Given the description of an element on the screen output the (x, y) to click on. 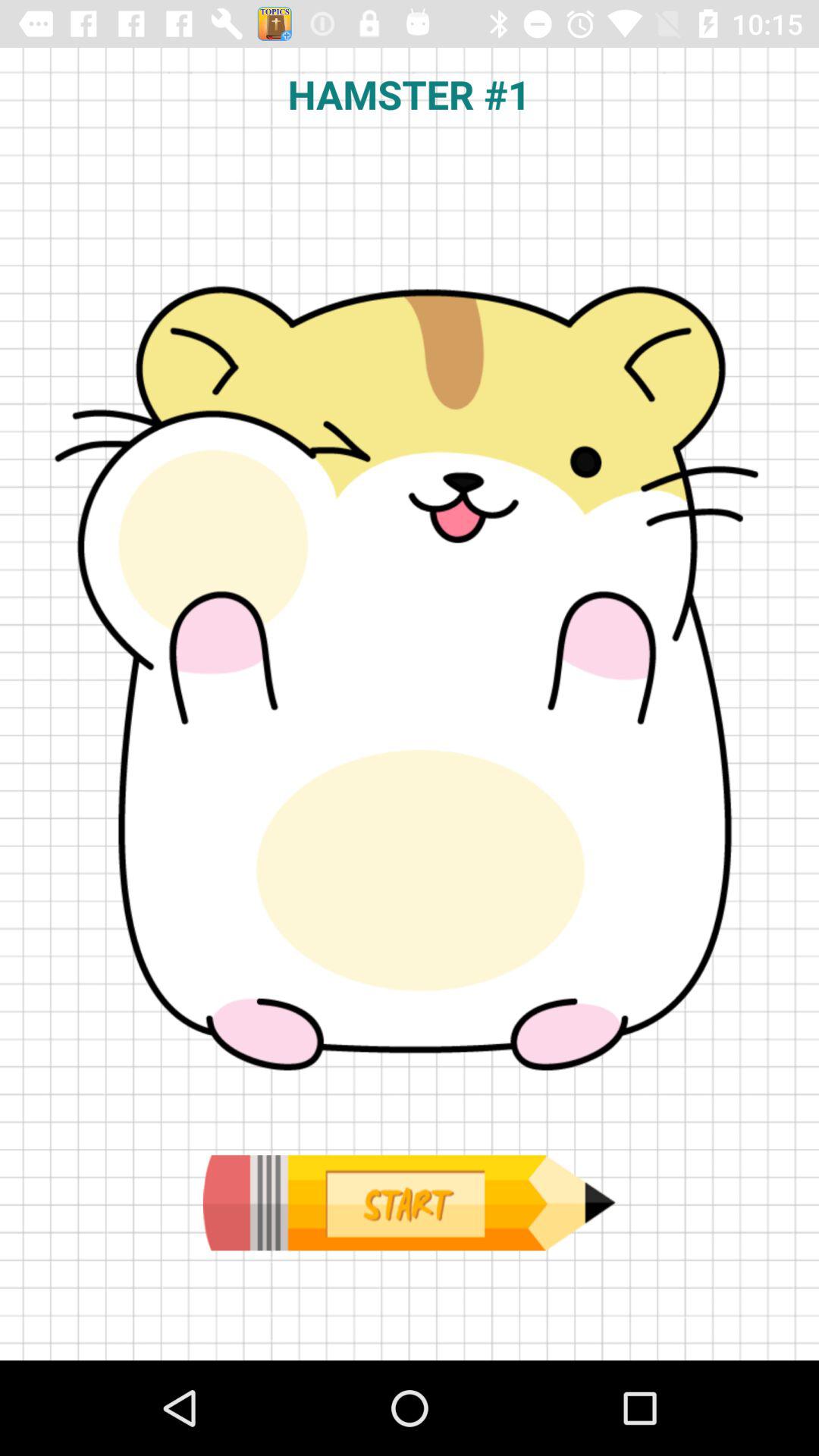
this is button to start the task (409, 1202)
